Given the description of an element on the screen output the (x, y) to click on. 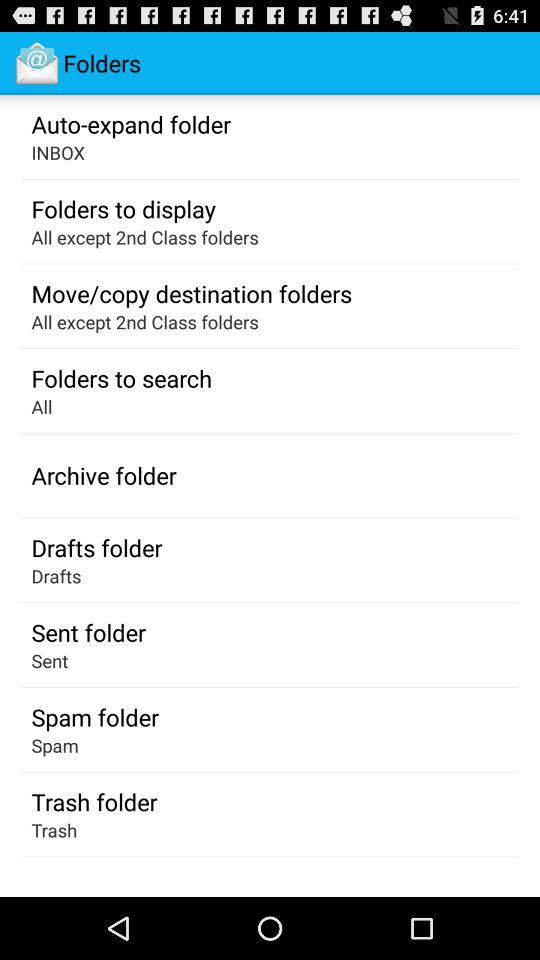
tap the drafts folder (96, 547)
